Given the description of an element on the screen output the (x, y) to click on. 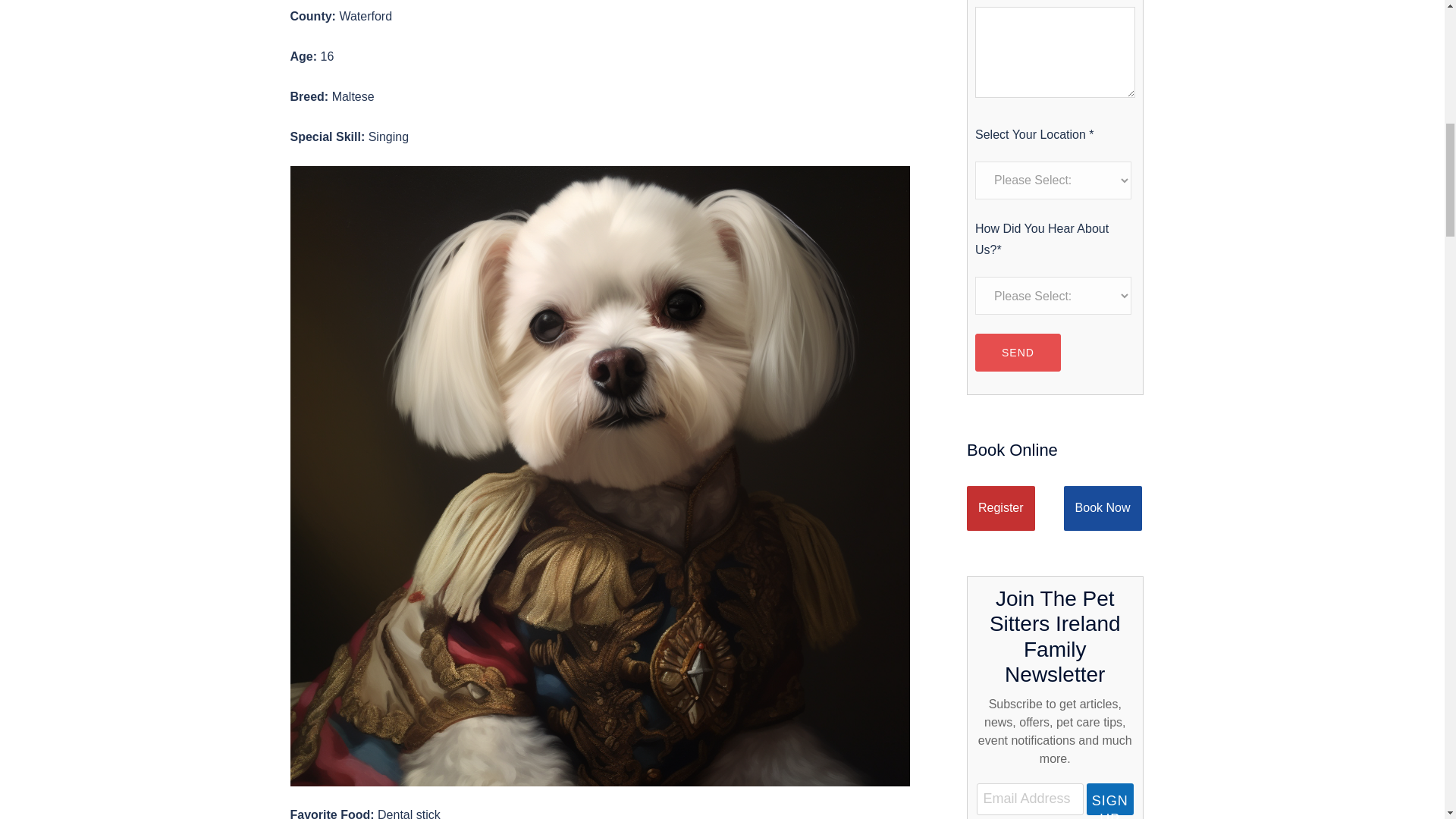
Send (1018, 352)
